Given the description of an element on the screen output the (x, y) to click on. 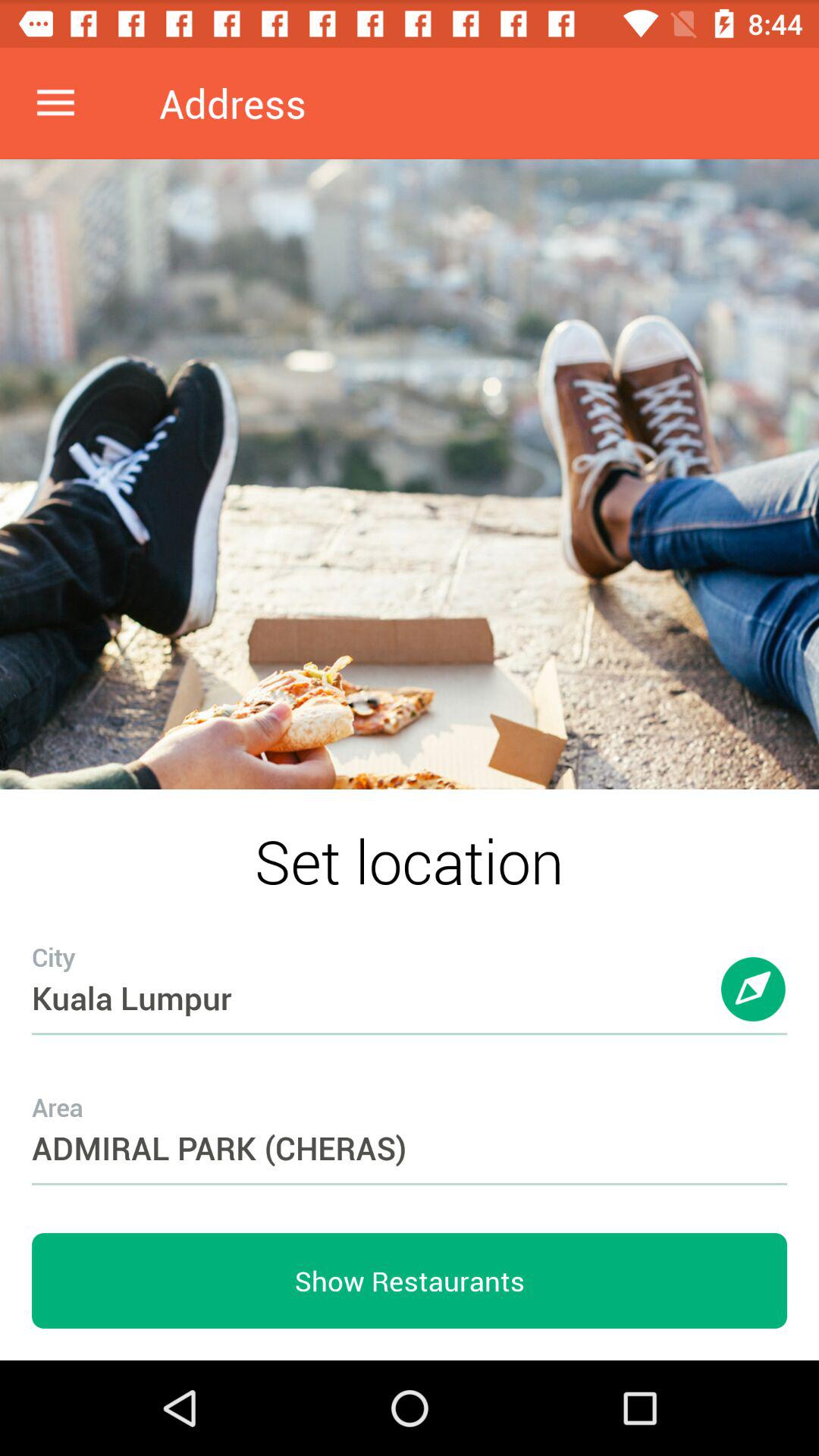
open the icon next to address item (55, 103)
